Given the description of an element on the screen output the (x, y) to click on. 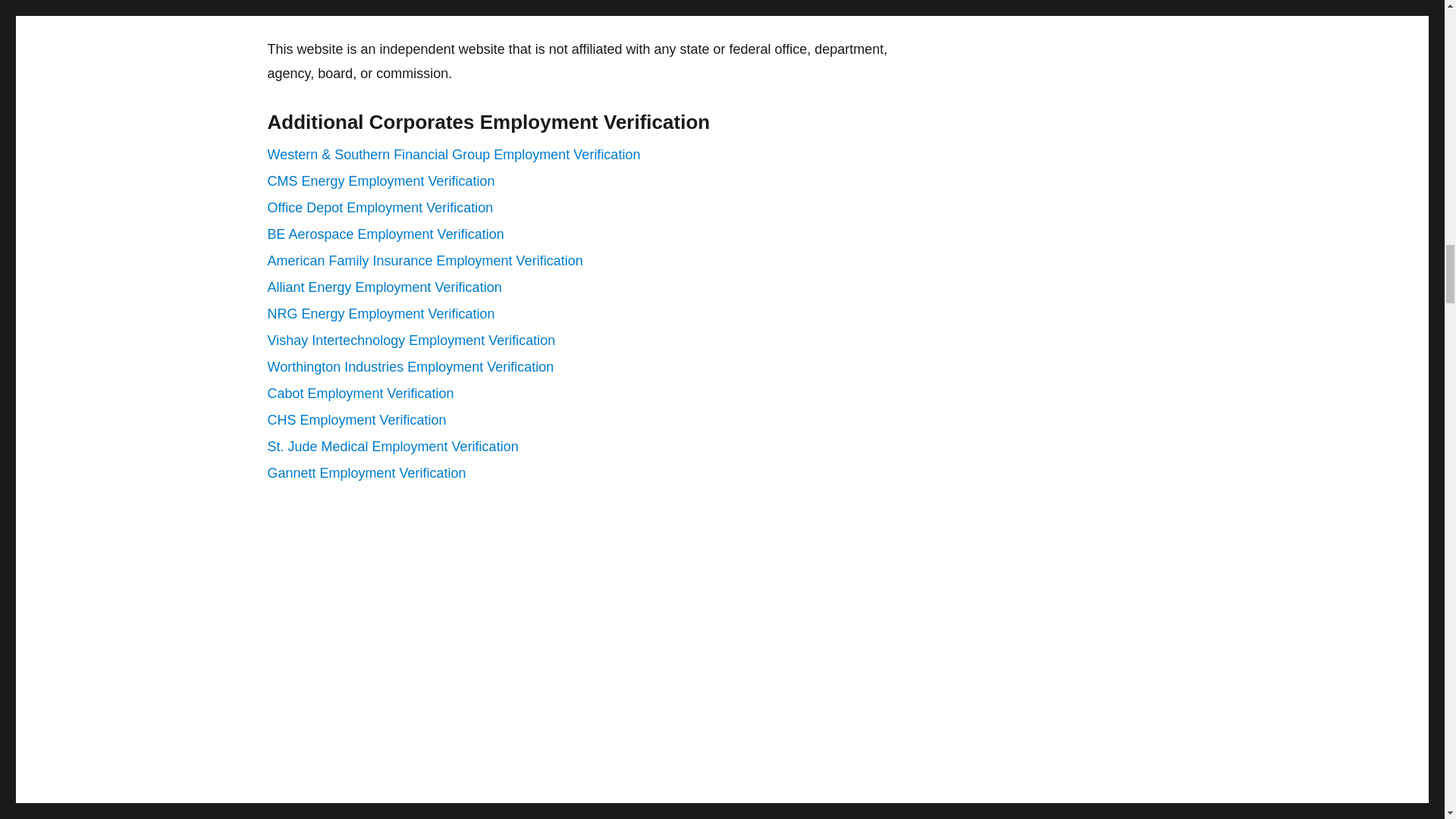
Worthington Industries Employment Verification (409, 366)
Vishay Intertechnology Employment Verification (410, 340)
Gannett Employment Verification (365, 473)
Cabot Employment Verification (359, 393)
American Family Insurance Employment Verification (424, 260)
BE Aerospace Employment Verification (384, 233)
CHS Employment Verification (355, 419)
Office Depot Employment Verification (379, 207)
St. Jude Medical Employment Verification (392, 446)
NRG Energy Employment Verification (380, 313)
Alliant Energy Employment Verification (383, 287)
CMS Energy Employment Verification (380, 181)
